Given the description of an element on the screen output the (x, y) to click on. 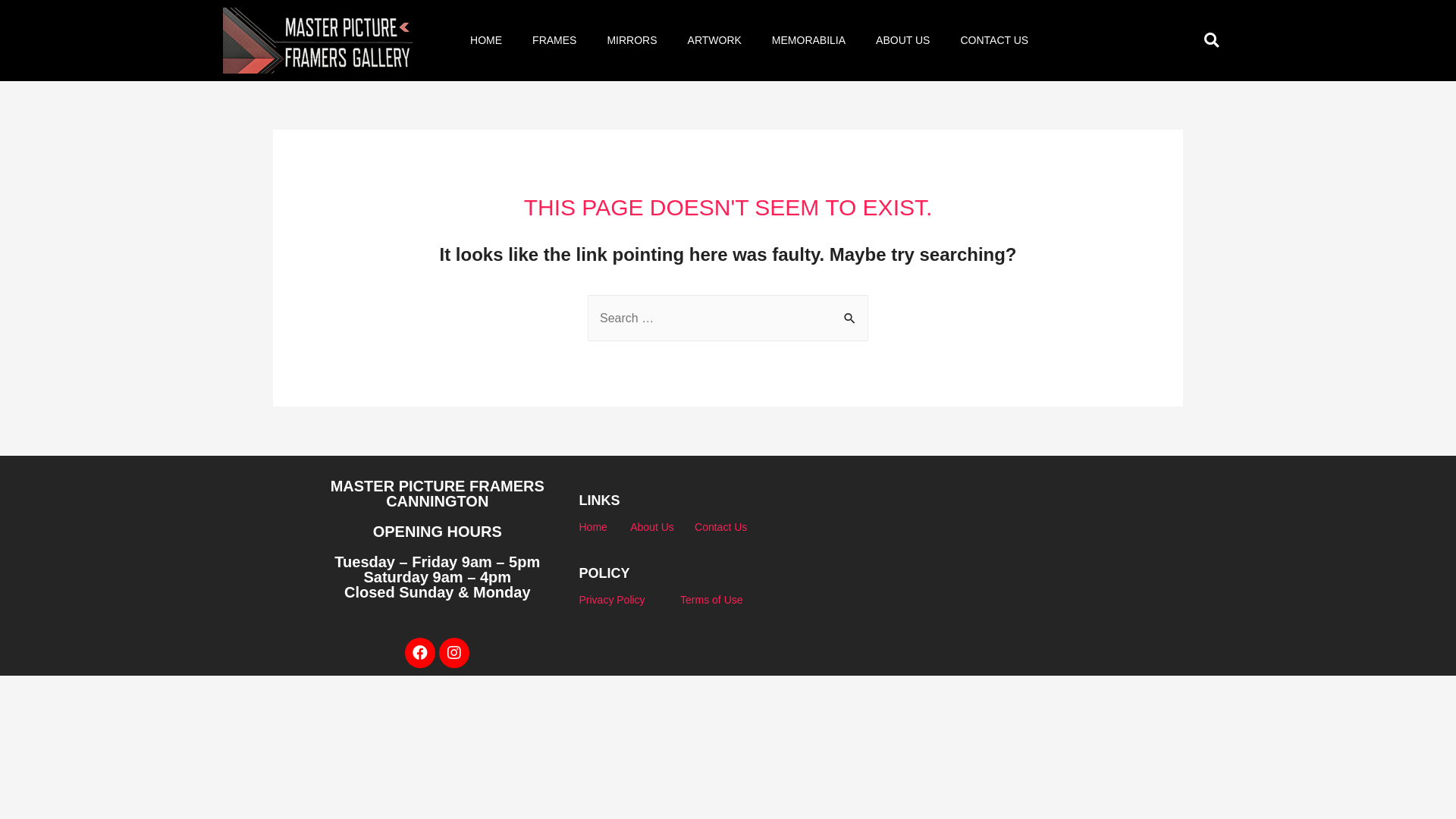
Contact Us Element type: text (720, 526)
Home Element type: text (592, 526)
ABOUT US Element type: text (902, 39)
Search Element type: text (851, 309)
MEMORABILIA Element type: text (808, 39)
HOME Element type: text (486, 39)
CONTACT US Element type: text (993, 39)
FRAMES Element type: text (554, 39)
MIRRORS Element type: text (631, 39)
Privacy Policy Element type: text (611, 599)
ARTWORK Element type: text (714, 39)
About Us Element type: text (652, 526)
Terms of Use Element type: text (711, 599)
